Given the description of an element on the screen output the (x, y) to click on. 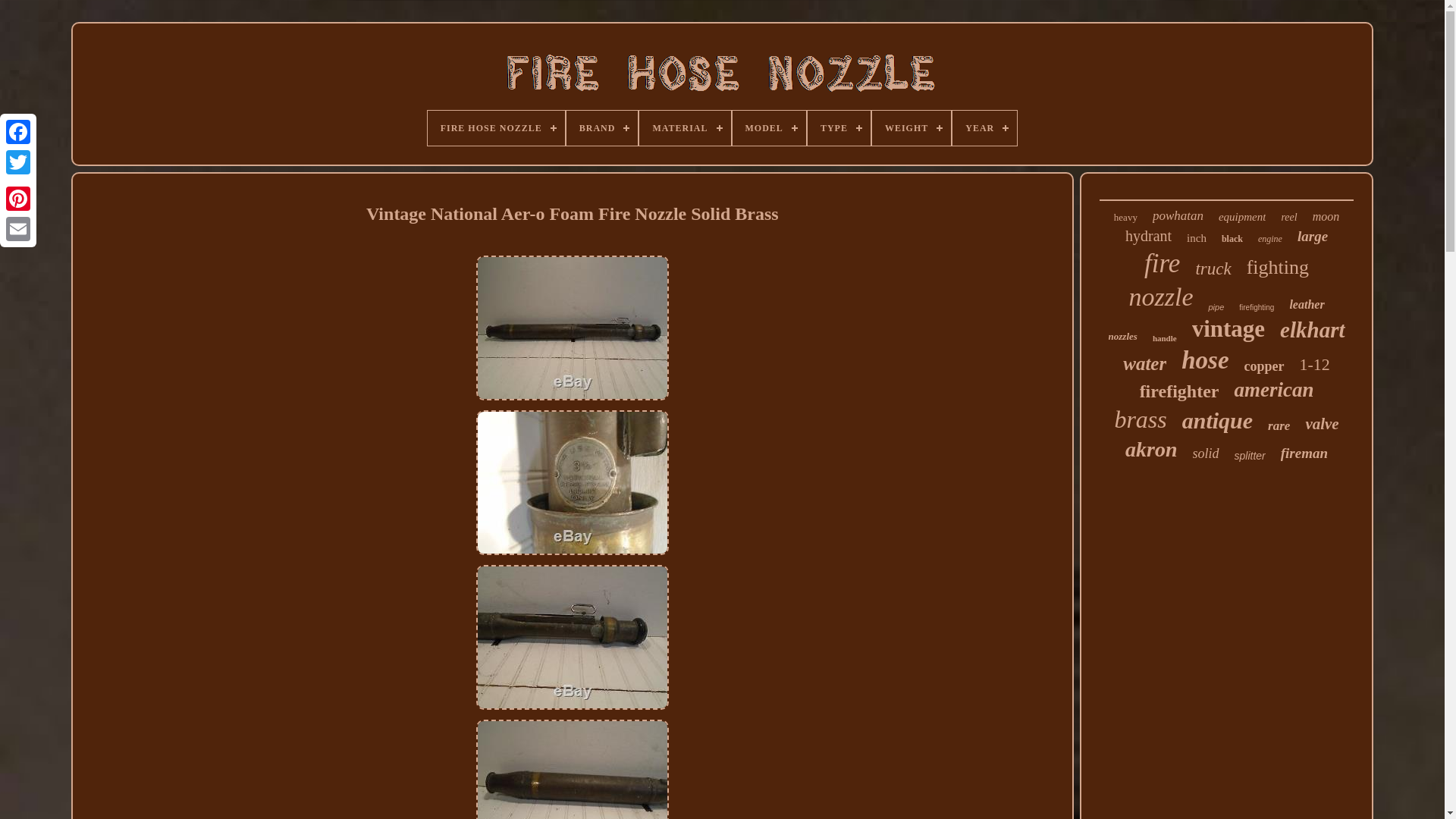
MATERIAL (684, 127)
Vintage National Aer-o Foam Fire Nozzle Solid Brass (572, 637)
FIRE HOSE NOZZLE (496, 127)
BRAND (602, 127)
Vintage National Aer-o Foam Fire Nozzle Solid Brass (572, 769)
Vintage National Aer-o Foam Fire Nozzle Solid Brass (572, 327)
MODEL (769, 127)
Vintage National Aer-o Foam Fire Nozzle Solid Brass (572, 482)
